Given the description of an element on the screen output the (x, y) to click on. 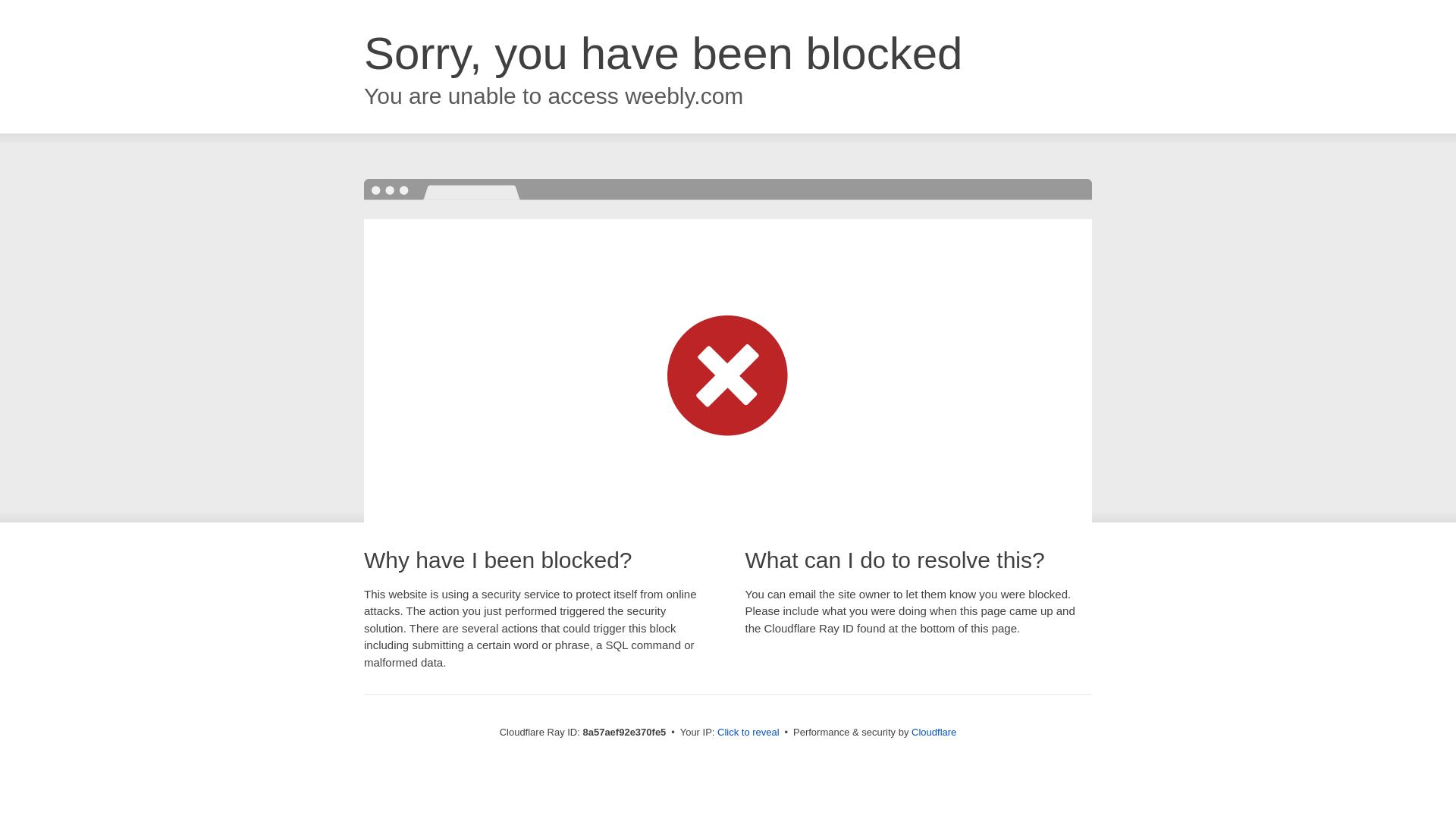
Cloudflare (933, 731)
Click to reveal (747, 732)
